Given the description of an element on the screen output the (x, y) to click on. 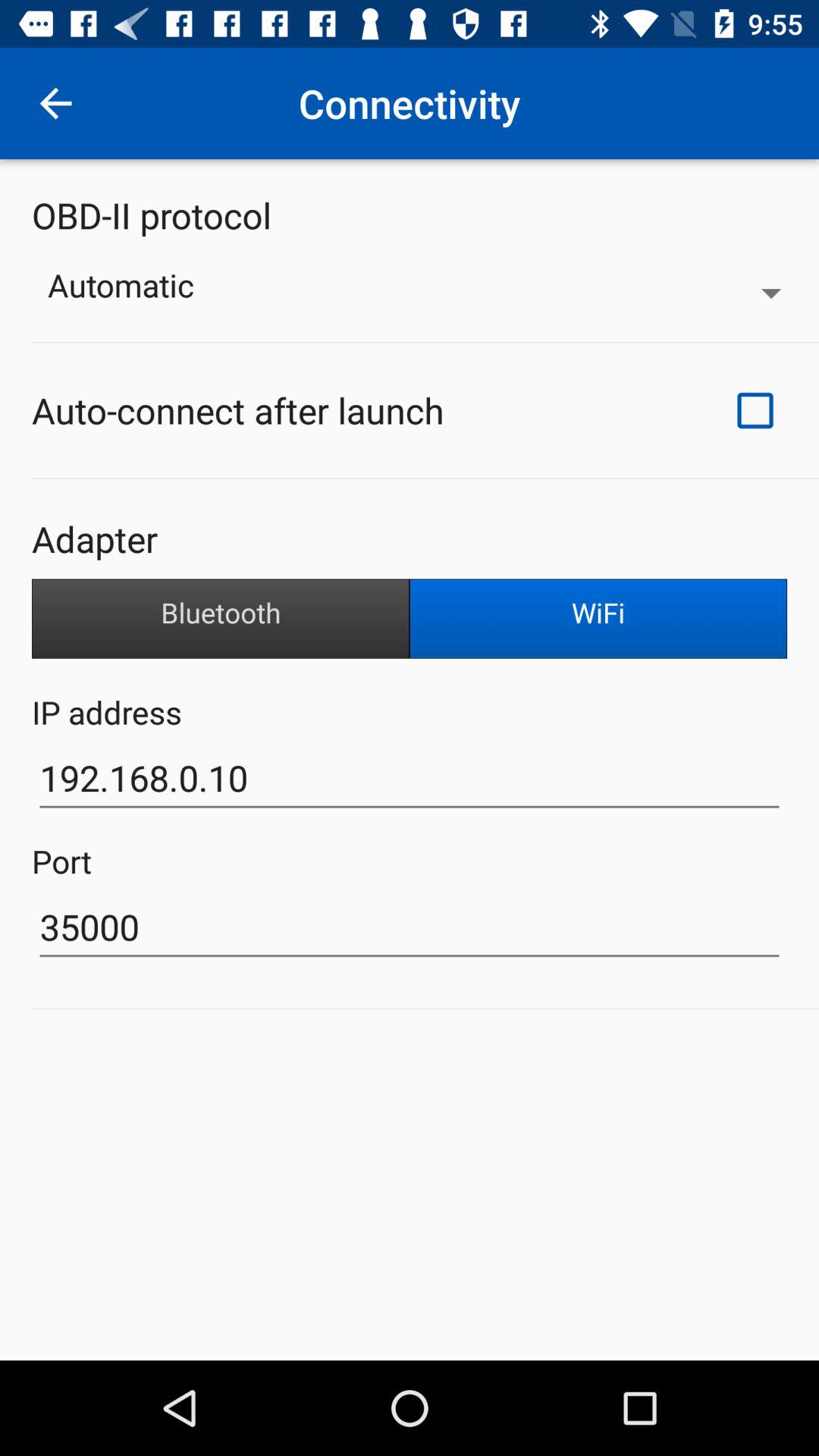
turn on item at the top right corner (755, 410)
